Given the description of an element on the screen output the (x, y) to click on. 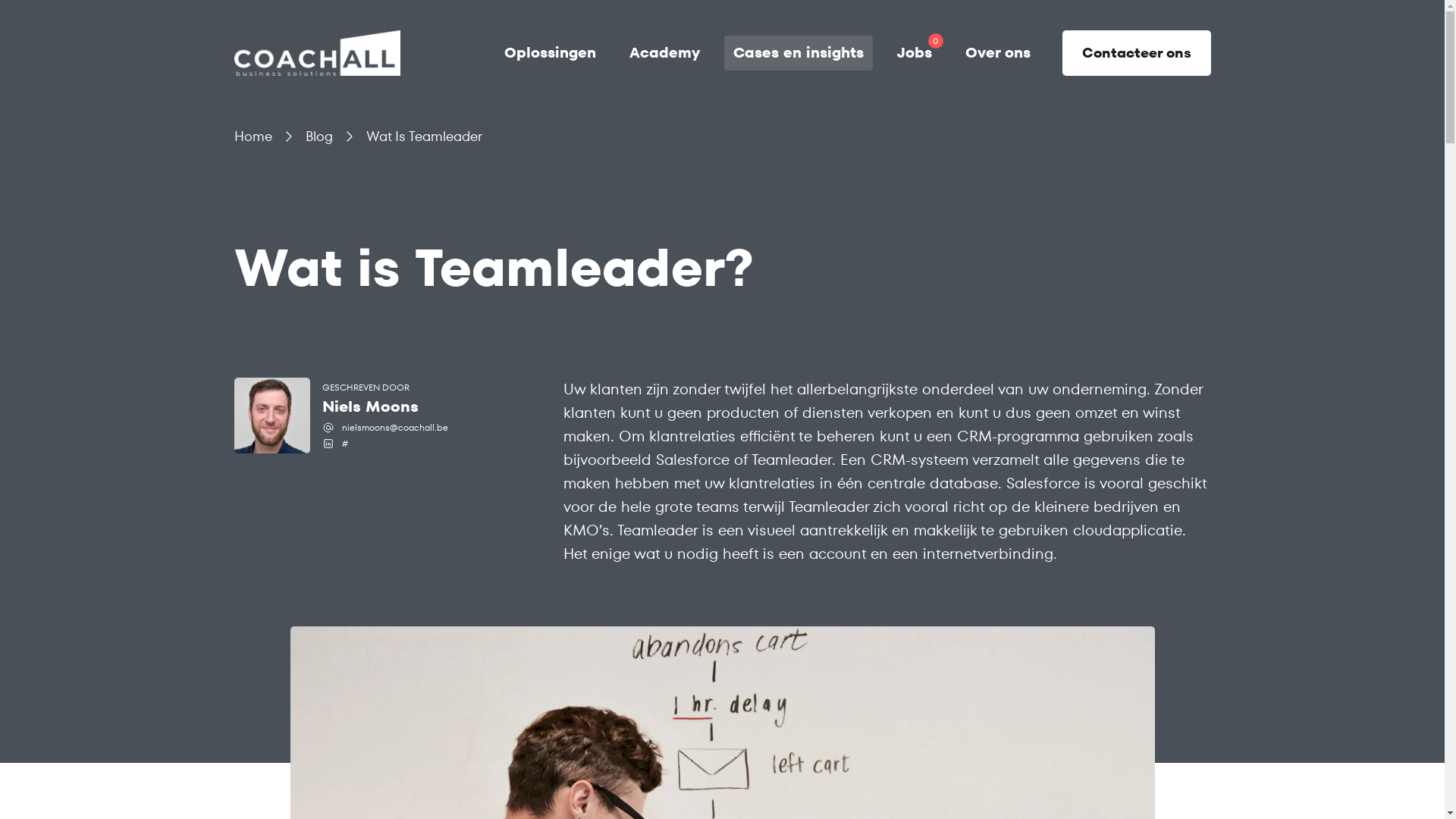
Over ons Element type: text (996, 52)
# Element type: text (344, 443)
Academy Element type: text (664, 52)
Wat Is Teamleader Element type: text (423, 136)
Home Element type: text (252, 136)
Cases en insights Element type: text (797, 52)
nielsmoons@coachall.be Element type: text (394, 427)
Jobs Element type: text (913, 52)
Contacteer ons Element type: text (1135, 52)
Oplossingen Element type: text (549, 52)
Contacteer ons Element type: text (1132, 52)
Blog Element type: text (318, 136)
